Given the description of an element on the screen output the (x, y) to click on. 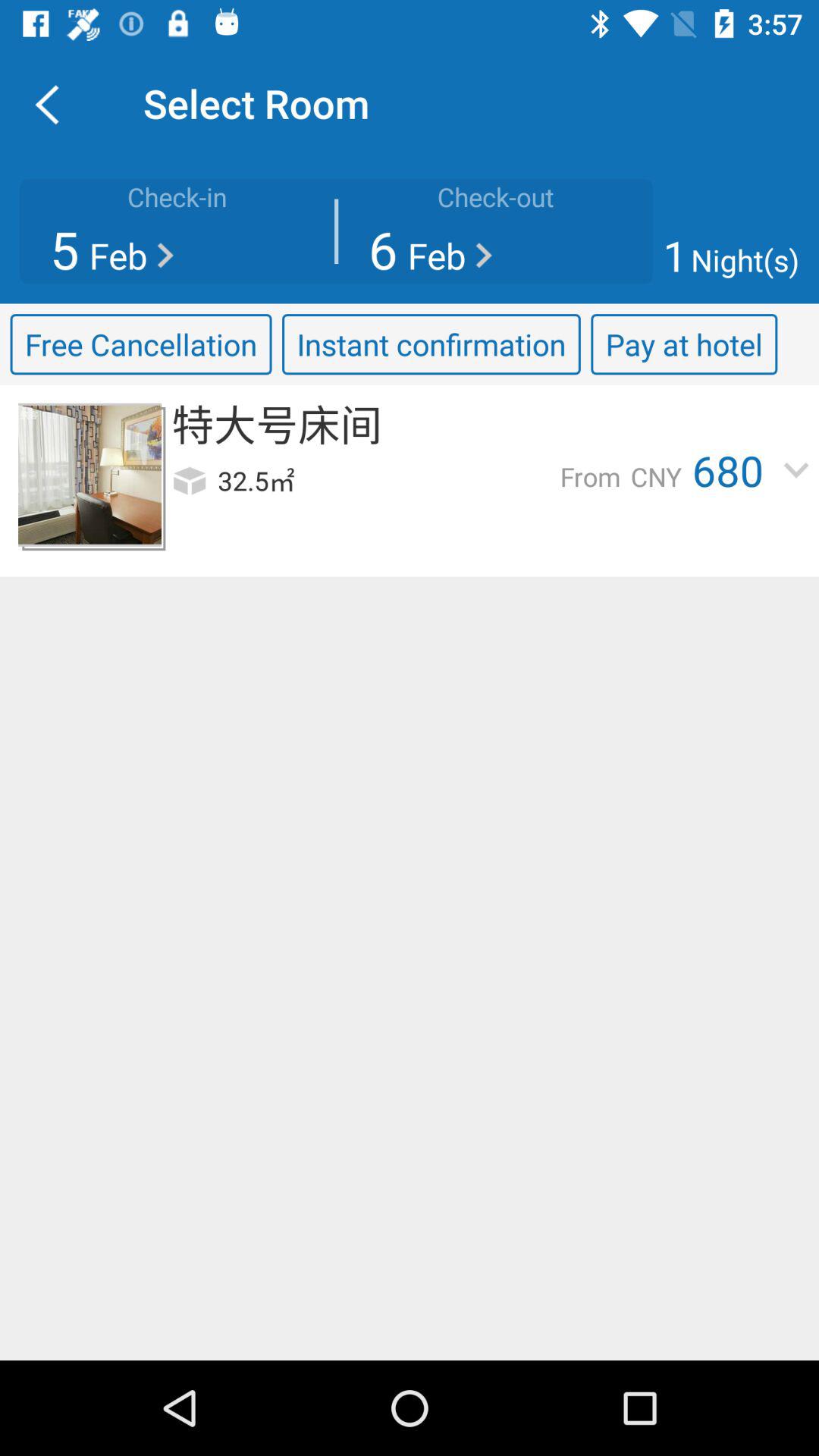
choose item to the left of the instant confirmation icon (140, 343)
